Given the description of an element on the screen output the (x, y) to click on. 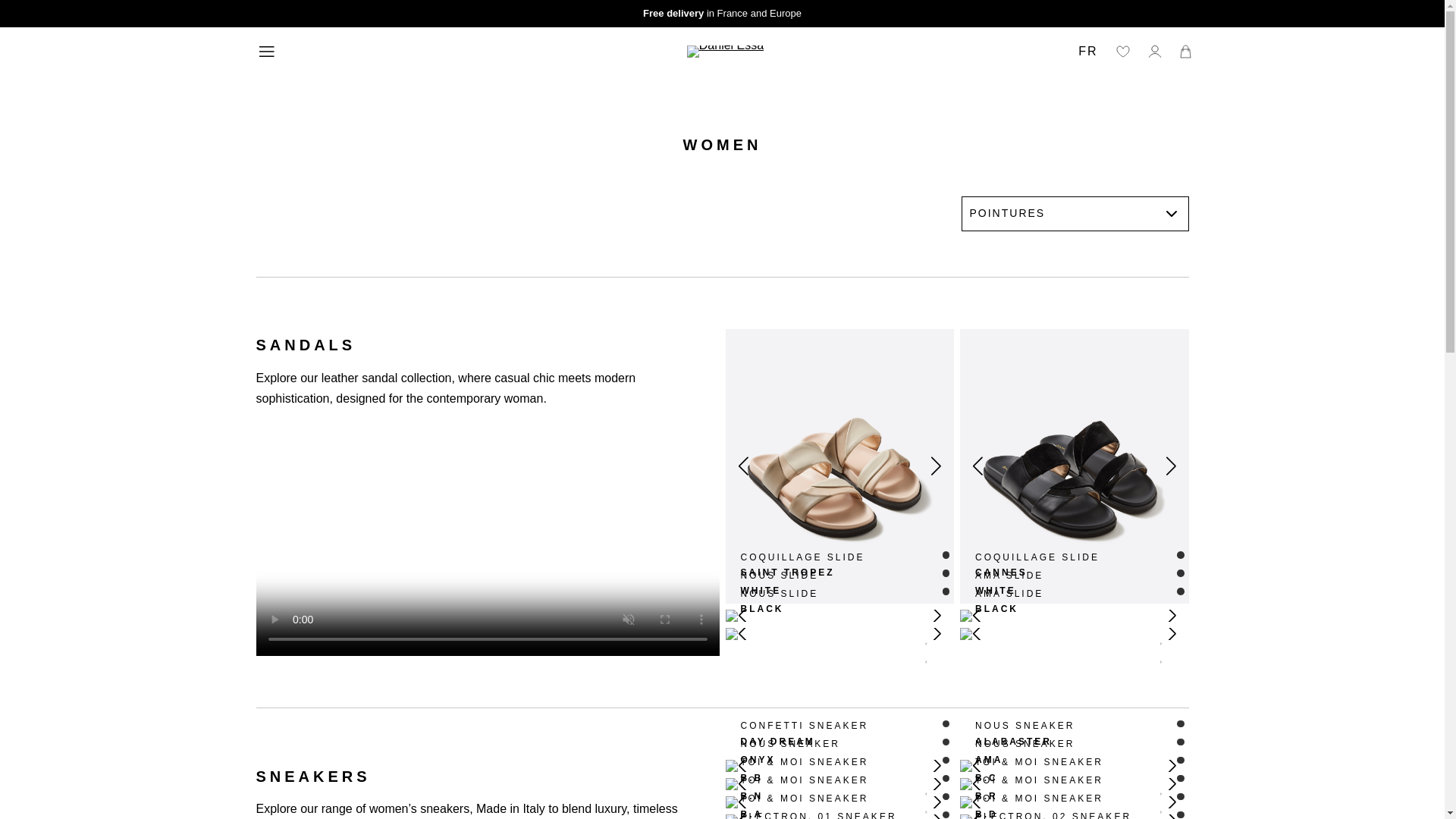
FR (1087, 51)
SANDALS (801, 564)
